Given the description of an element on the screen output the (x, y) to click on. 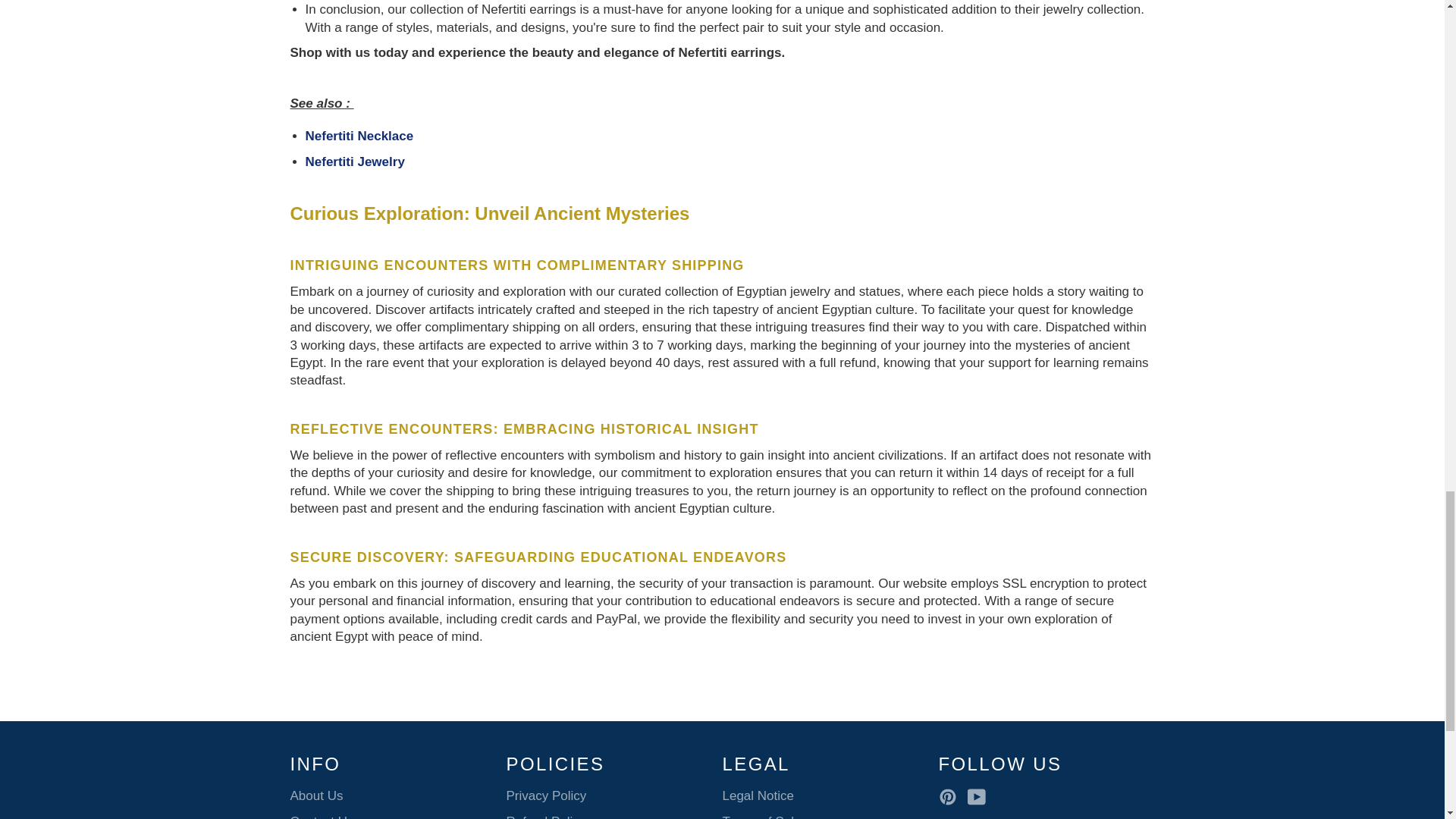
nefertiti-jewelry (354, 161)
nefertiti-necklace (358, 135)
Egyptian-fever on YouTube (980, 796)
Egyptian-fever on Pinterest (951, 796)
